Given the description of an element on the screen output the (x, y) to click on. 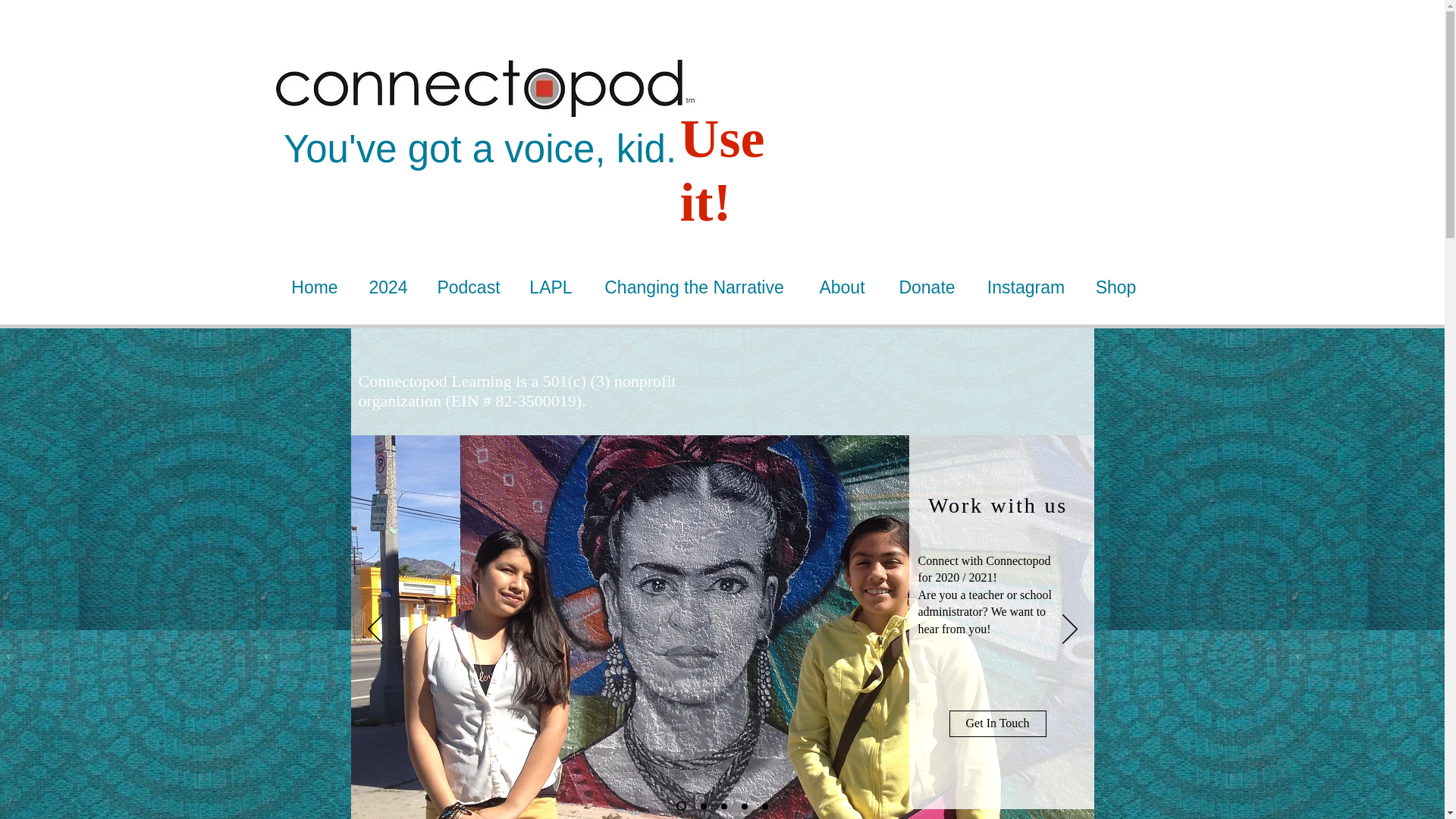
Instagram (1026, 287)
Home (314, 287)
LAPL (550, 287)
Changing the Narrative (694, 287)
Donate (927, 287)
Podcast (468, 287)
2024 (388, 287)
Shop (1115, 287)
